Given the description of an element on the screen output the (x, y) to click on. 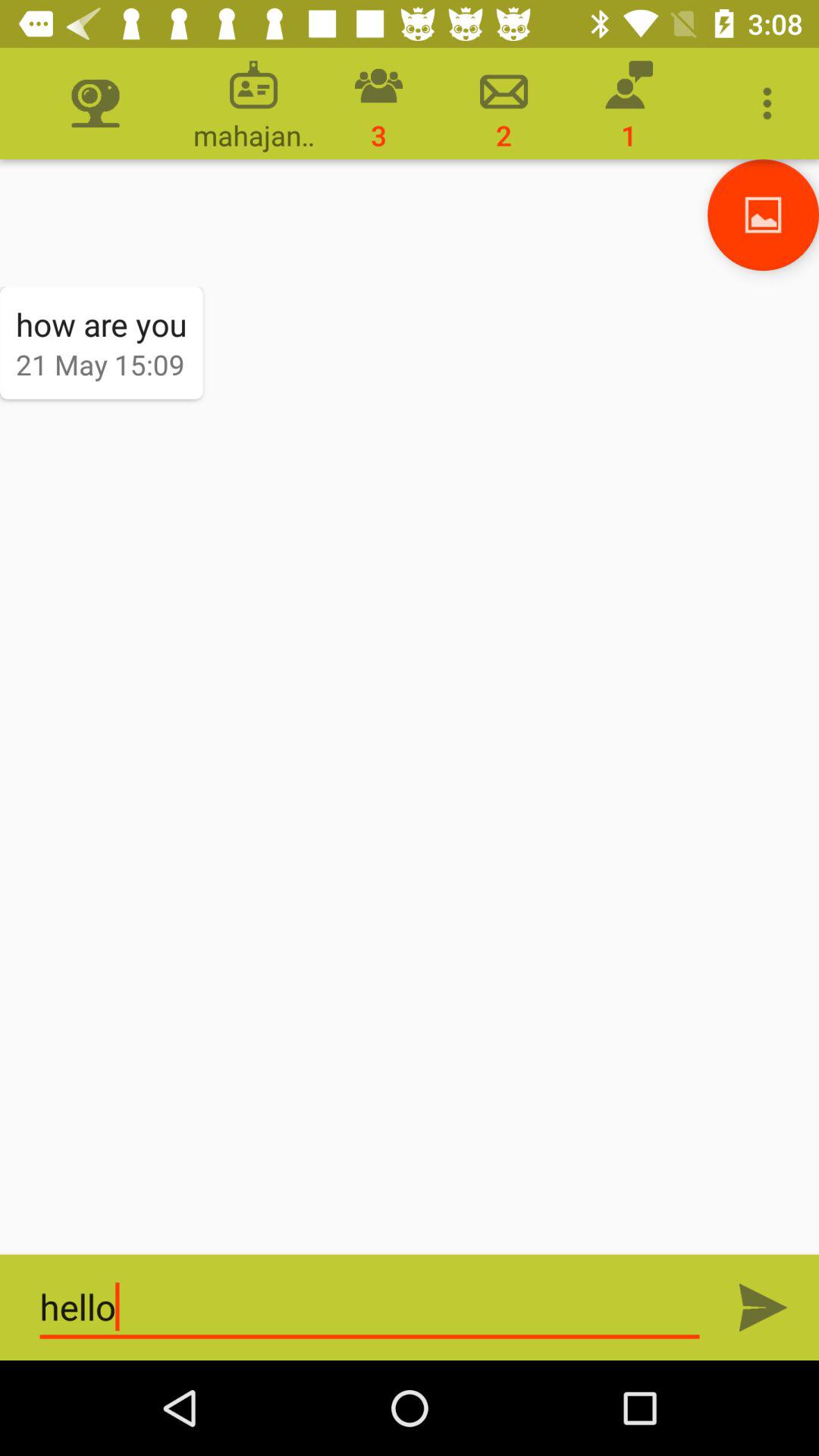
click on send icon (763, 1307)
click on the more options icon (771, 103)
select text field which is at bottom of the page (369, 1307)
select the id icon and the word which is below it (253, 103)
